Given the description of an element on the screen output the (x, y) to click on. 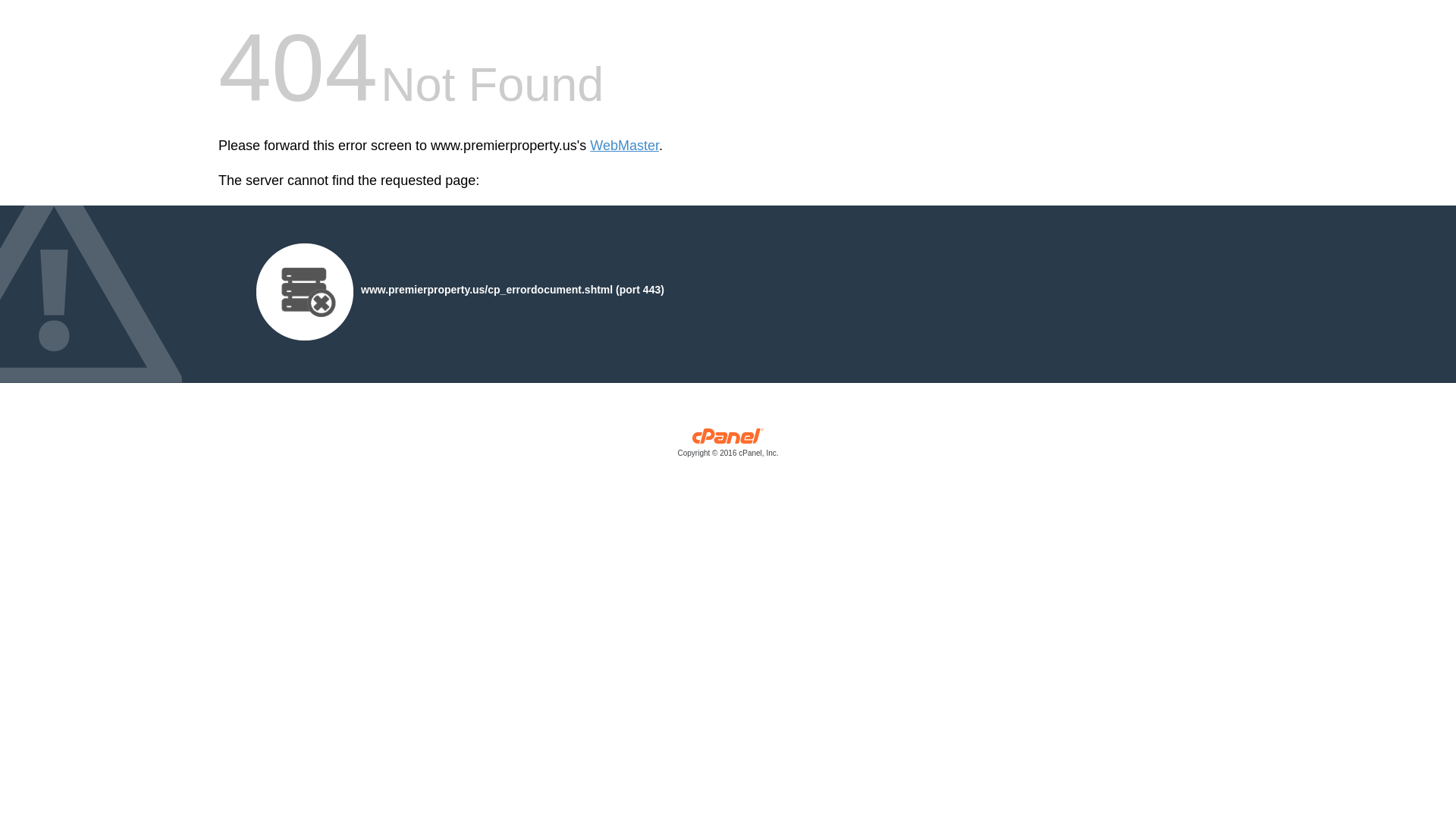
cPanel, Inc. (727, 446)
WebMaster (624, 145)
